Given the description of an element on the screen output the (x, y) to click on. 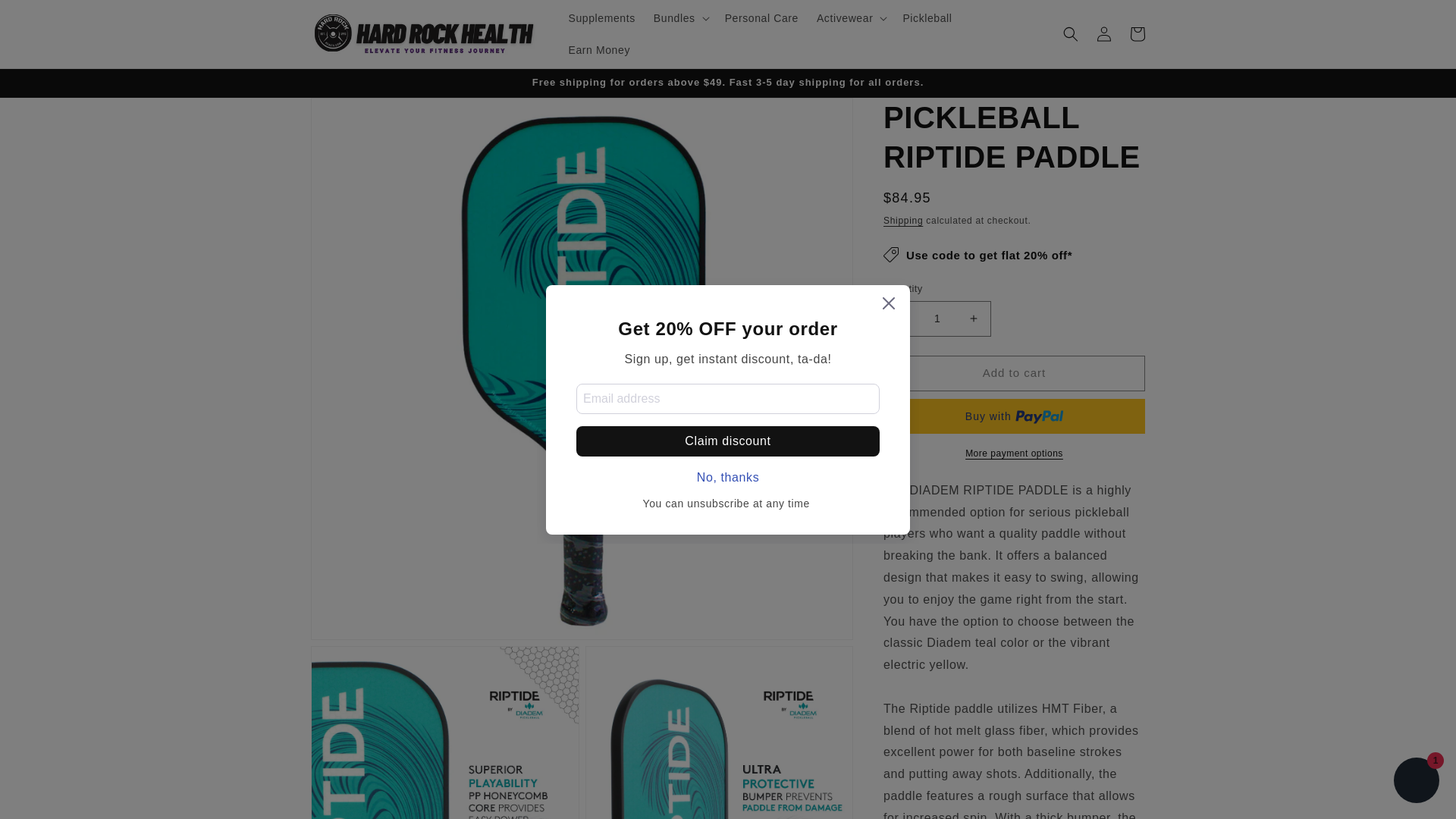
Pickleball (926, 18)
Shopify online store chat (1416, 781)
Earn Money (599, 50)
1 (937, 318)
Skip to content (45, 17)
Supplements (602, 18)
Personal Care (762, 18)
